Given the description of an element on the screen output the (x, y) to click on. 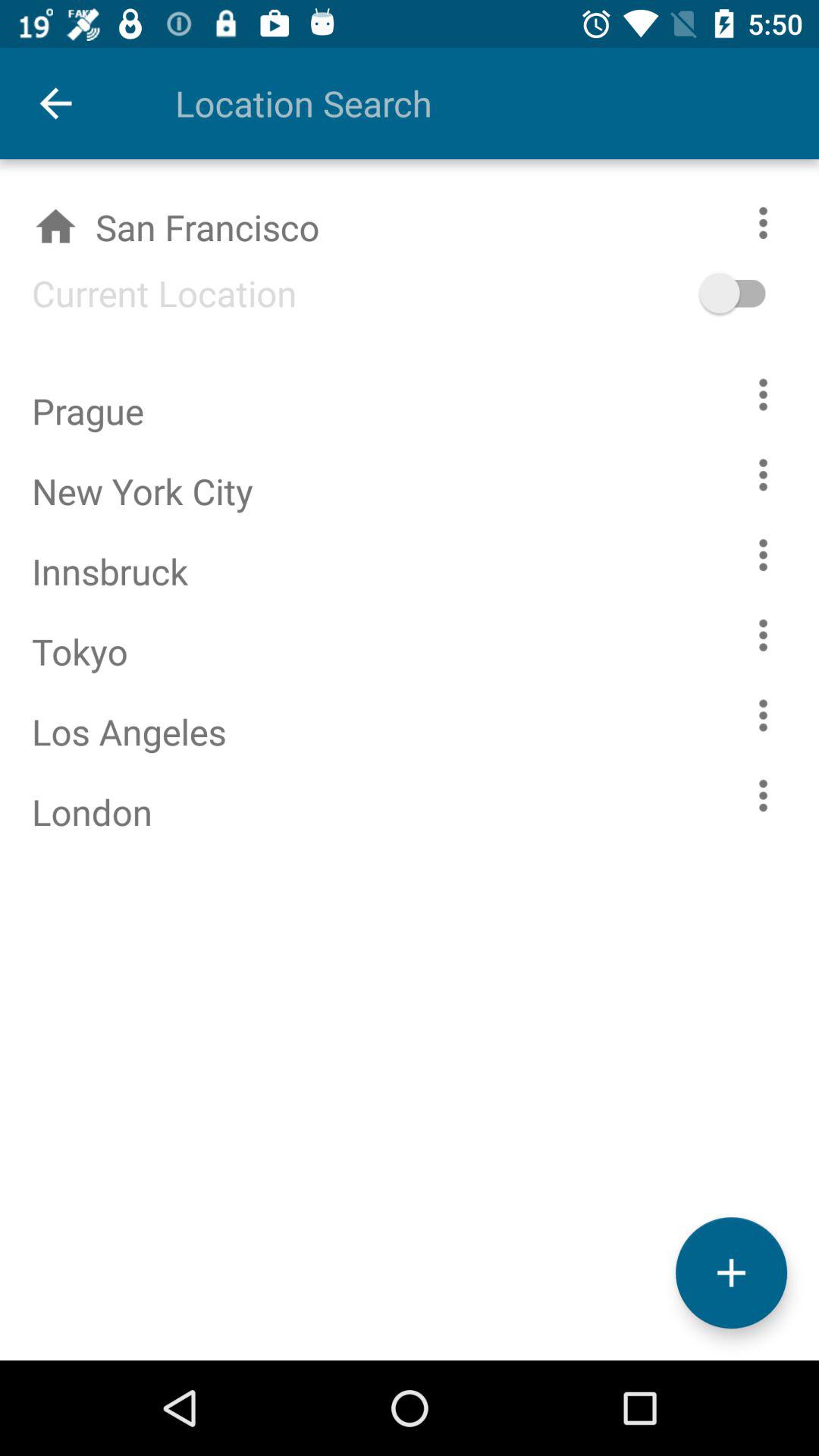
swipe until the current location (148, 293)
